Given the description of an element on the screen output the (x, y) to click on. 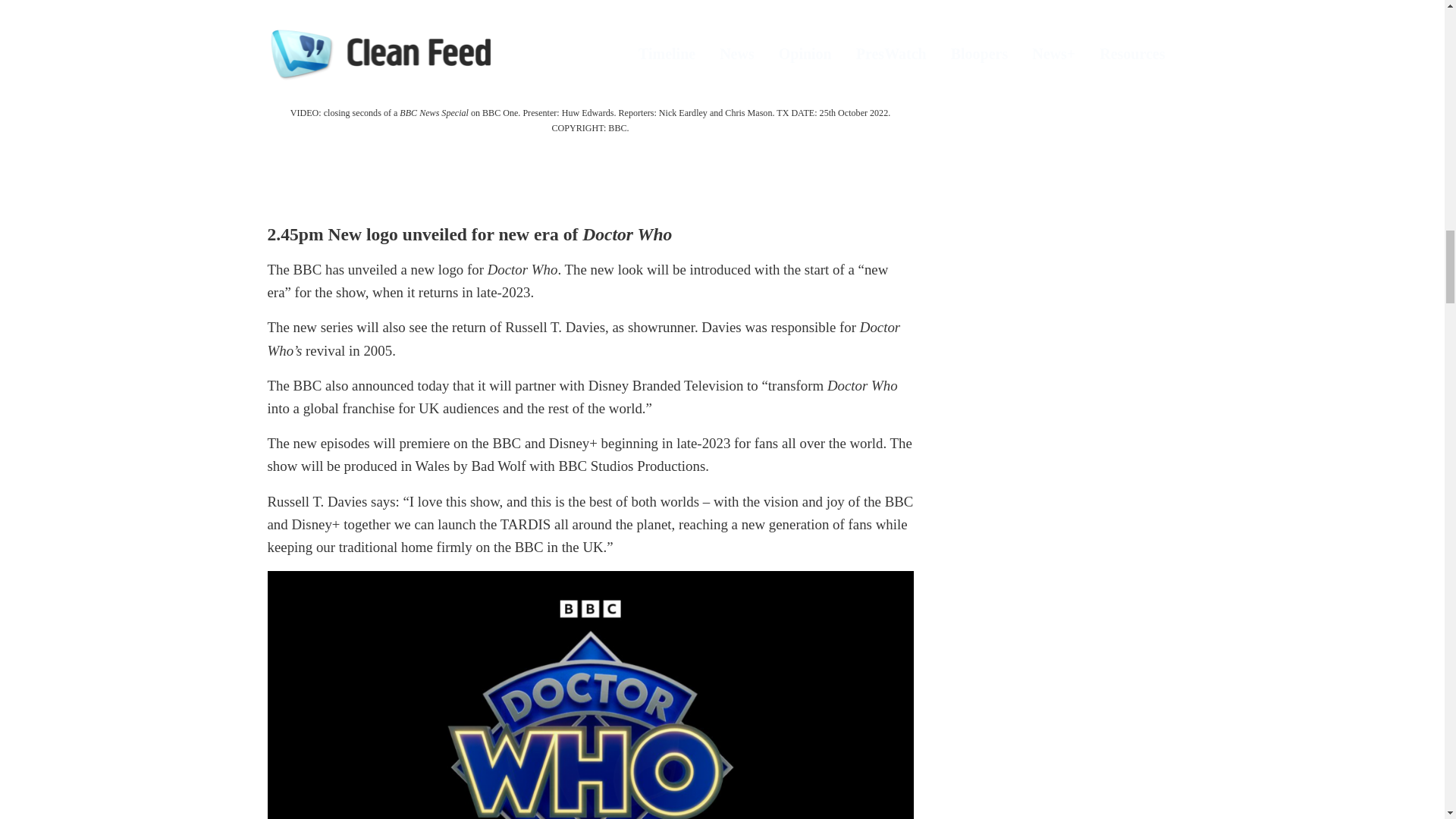
VideoPress Video Player (589, 50)
